Given the description of an element on the screen output the (x, y) to click on. 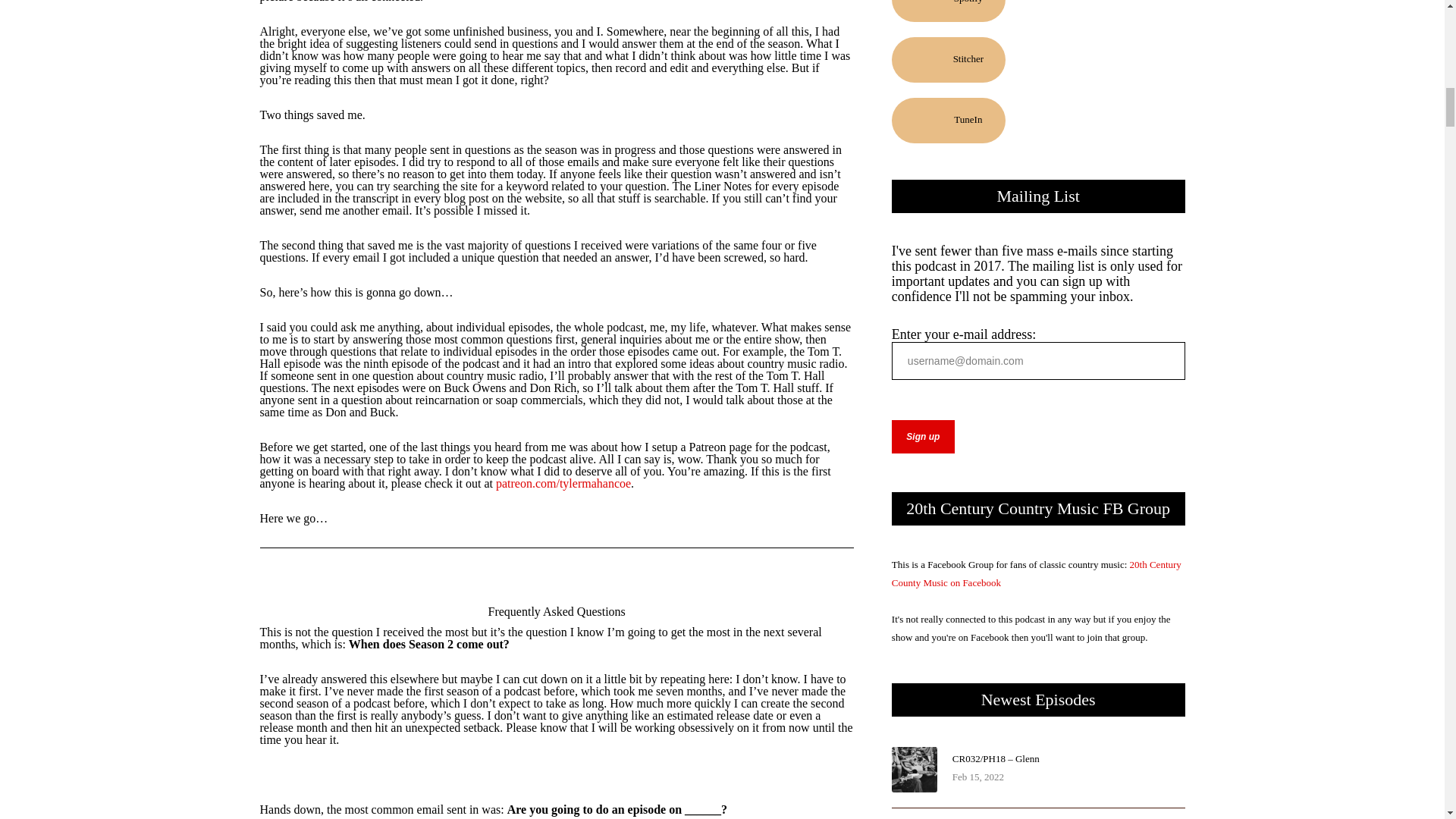
Sign up (923, 436)
